Given the description of an element on the screen output the (x, y) to click on. 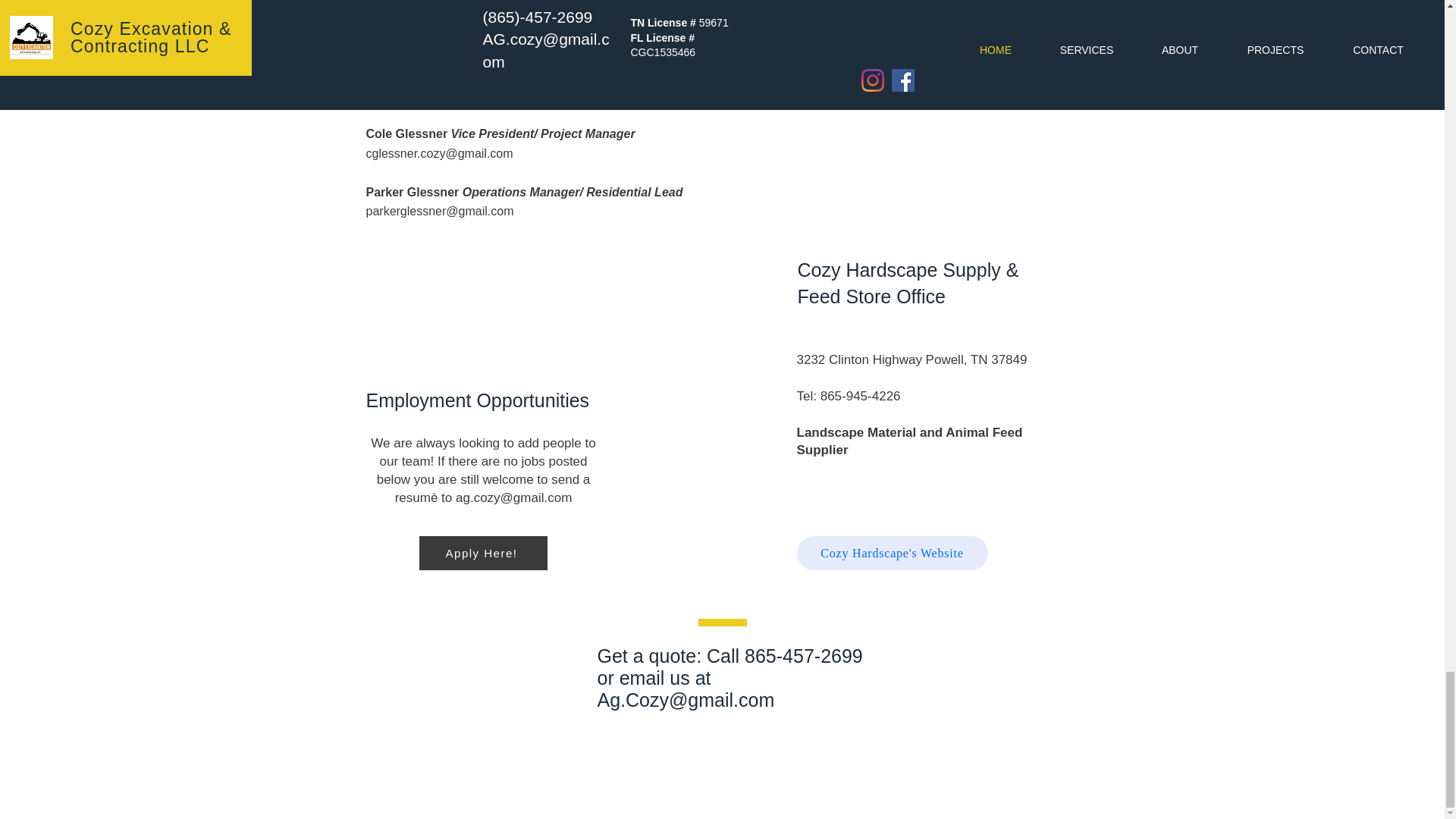
Apply Here! (483, 553)
Cozy Hardscape's Website (891, 553)
